Given the description of an element on the screen output the (x, y) to click on. 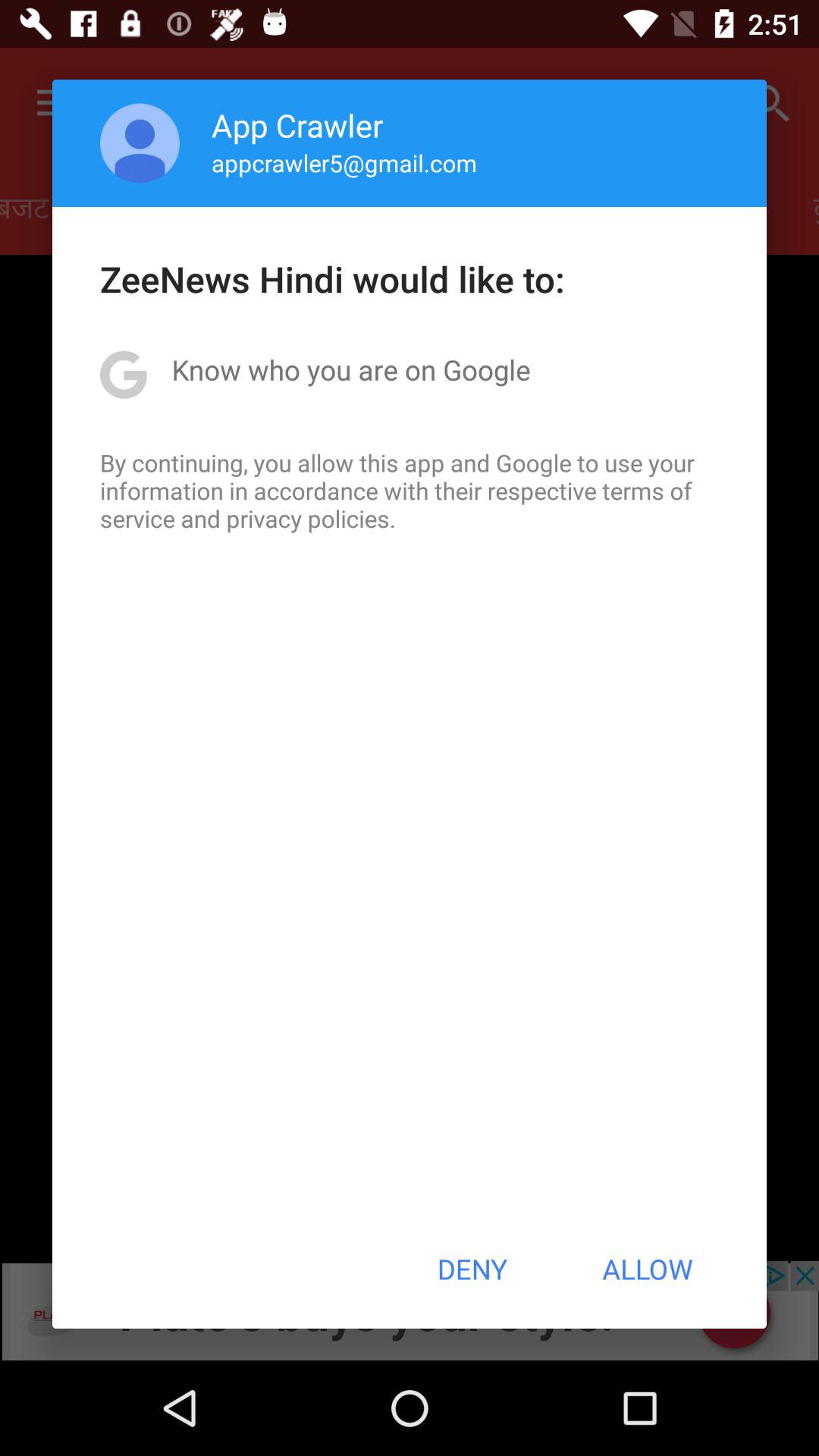
select the item above the appcrawler5@gmail.com item (297, 124)
